Given the description of an element on the screen output the (x, y) to click on. 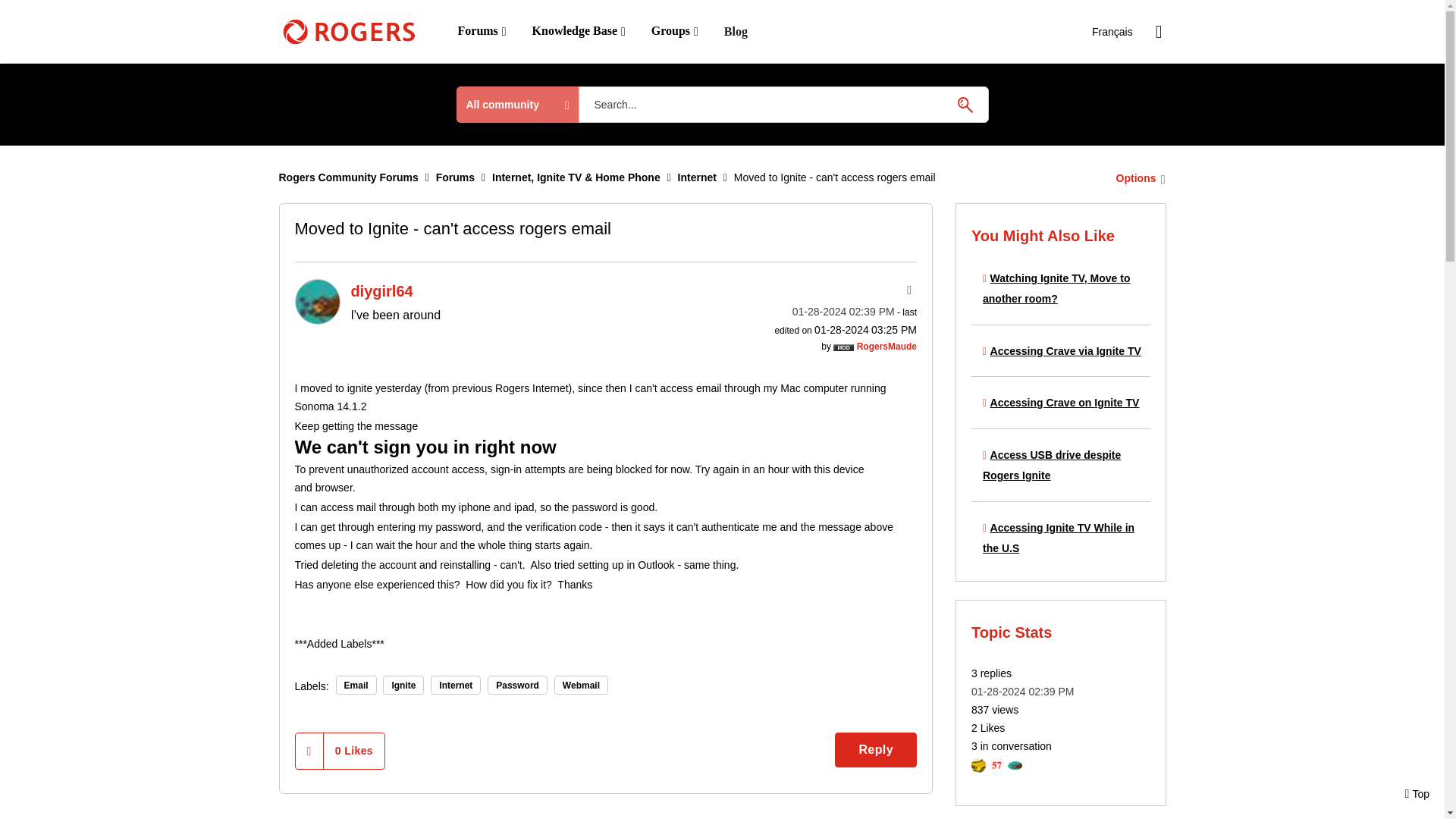
Search (964, 104)
Internet (713, 815)
Search (783, 104)
Show option menu (1136, 177)
Groups (675, 31)
Show option menu (907, 290)
Forums (480, 31)
Rogers Community (348, 31)
Rogers Community Forums (349, 177)
Blog (735, 31)
Search (964, 104)
Forums (454, 177)
Knowledge Base (579, 31)
diygirl64 (316, 301)
Moderator (842, 347)
